Given the description of an element on the screen output the (x, y) to click on. 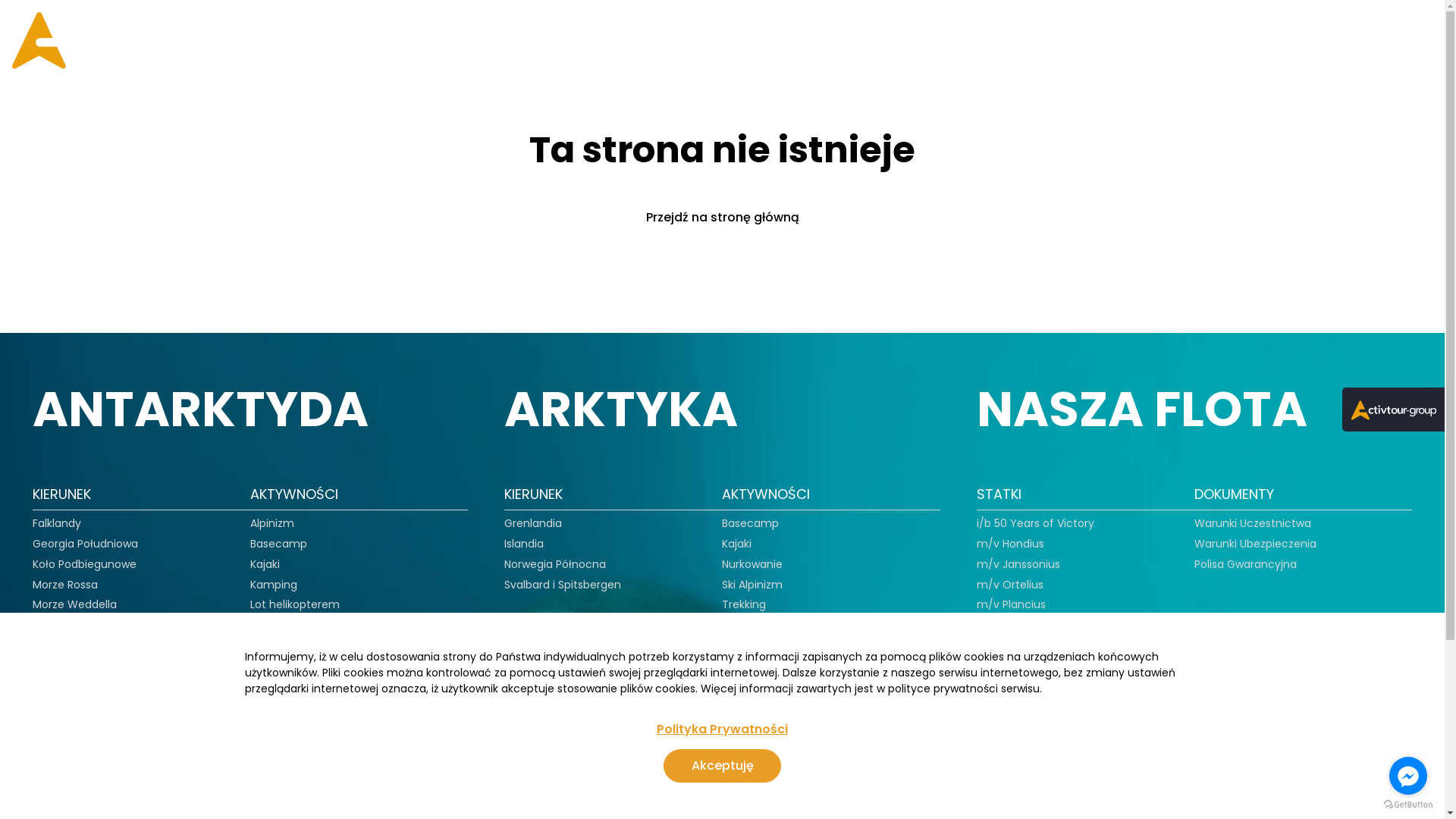
Grenlandia Element type: text (532, 523)
BLOG Element type: text (1164, 40)
Basecamp Element type: text (749, 523)
ARKTYKA Element type: text (666, 40)
BLOG Element type: text (204, 793)
Islandia Element type: text (523, 543)
m/v Hondius Element type: text (1010, 543)
m/v Ortelius Element type: text (1009, 584)
Kajaki Element type: text (264, 564)
s/v Rembrandt van Rijn Element type: text (1037, 645)
GALERIA Element type: text (1095, 40)
KONTAKT Element type: text (1349, 40)
Warunki Uczestnictwa Element type: text (1252, 523)
Kamping Element type: text (273, 584)
Warsztaty foto Element type: text (289, 686)
Warsztaty specjalne Element type: text (775, 645)
Ski Alpinizm Element type: text (751, 584)
Lot helikopterem Element type: text (294, 604)
Warsztaty specjalne Element type: text (303, 706)
ANTARKTYDA Element type: text (562, 40)
Svalbard i Spitsbergen Element type: text (562, 584)
info@activtour.pl Element type: text (1141, 794)
Warsztaty foto Element type: text (761, 625)
KONTAKT Element type: text (319, 793)
Ski Alpinizm Element type: text (280, 645)
Nurkowanie Element type: text (280, 625)
+48 695 427 447 Element type: text (947, 794)
Warunki Ubezpieczenia Element type: text (1255, 543)
PROMOCJE Element type: text (762, 40)
Alpinizm Element type: text (272, 523)
O NAS Element type: text (1225, 40)
O NAS Element type: text (255, 793)
Falklandy Element type: text (55, 523)
Nurkowanie Element type: text (751, 564)
NASZA FLOTA Element type: text (995, 40)
Kajaki Element type: text (736, 543)
Basecamp Element type: text (278, 543)
Trekking Element type: text (272, 665)
GALERIA Element type: text (145, 793)
m/v Janssonius Element type: text (1018, 564)
i/b 50 Years of Victory Element type: text (1035, 523)
Polisa Gwarancyjna Element type: text (1245, 564)
s/v Noorderlicht Element type: text (1018, 625)
Trekking Element type: text (743, 604)
FAQ Element type: text (1280, 40)
Morze Weddella Element type: text (73, 604)
PROMOCJE Element type: text (68, 793)
Morze Rossa Element type: text (64, 584)
m/v Plancius Element type: text (1010, 604)
